Given the description of an element on the screen output the (x, y) to click on. 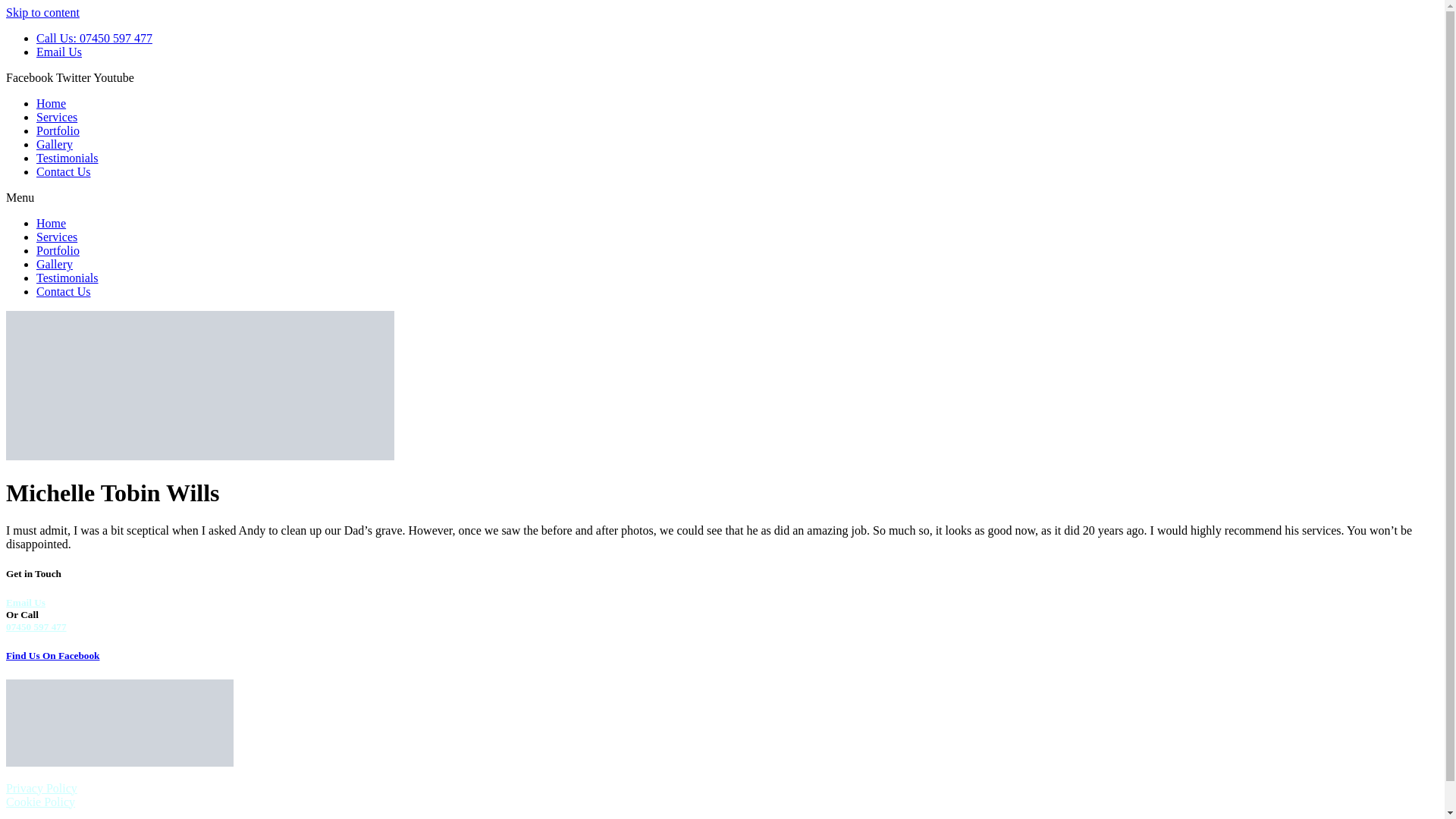
Portfolio (58, 130)
Home (50, 103)
Home (50, 223)
07450 597 477 (35, 626)
Facebook (30, 77)
Cookie Policy (40, 801)
Contact Us (63, 171)
Services (56, 236)
Testimonials (67, 277)
Skip to content (42, 11)
Email Us (58, 51)
Privacy Policy (41, 788)
Services (56, 116)
Call Us: 07450 597 477 (94, 38)
Email Us (25, 602)
